Given the description of an element on the screen output the (x, y) to click on. 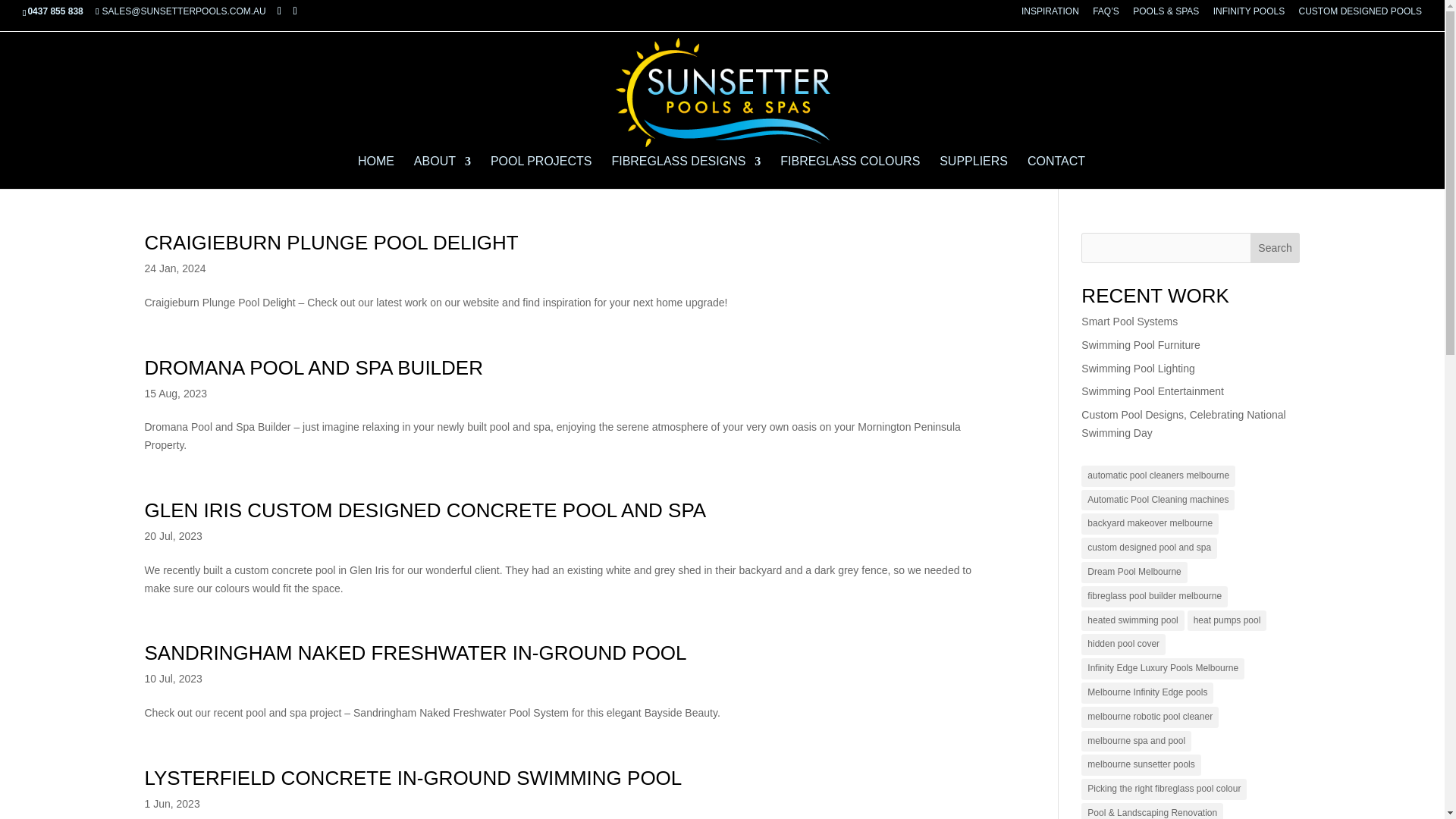
INFINITY POOLS (1248, 14)
CUSTOM DESIGNED POOLS (1360, 14)
POOL PROJECTS (541, 172)
HOME (376, 172)
FIBREGLASS COLOURS (850, 172)
SUPPLIERS (973, 172)
ABOUT (441, 172)
FIBREGLASS DESIGNS (685, 172)
CONTACT (1055, 172)
INSPIRATION (1050, 14)
